Given the description of an element on the screen output the (x, y) to click on. 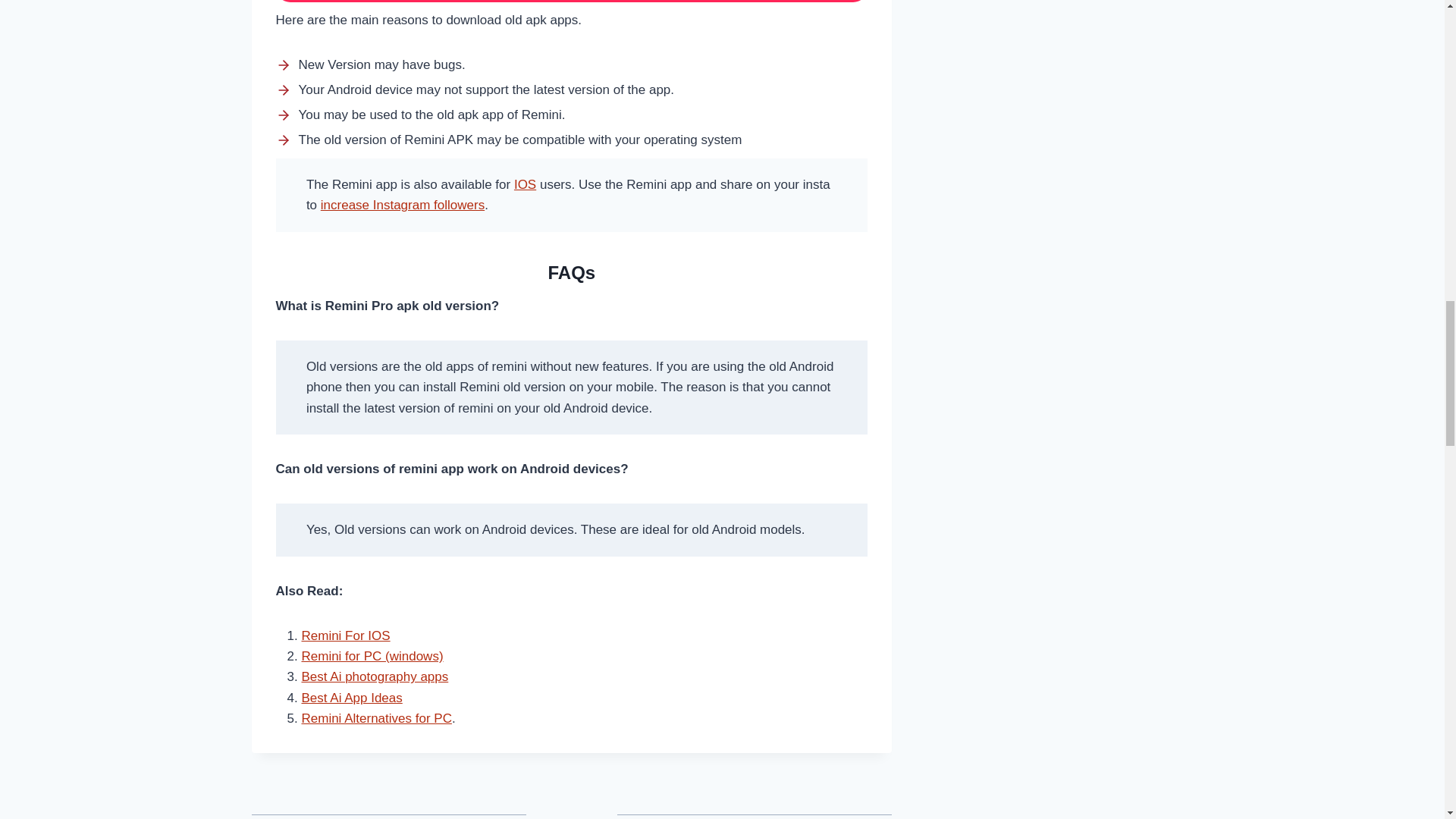
IOS (524, 184)
Best Ai photography apps (374, 676)
Remini For IOS (345, 635)
increase Instagram followers (402, 205)
Remini Alternatives for PC (376, 718)
Best Ai App Ideas (352, 698)
